Given the description of an element on the screen output the (x, y) to click on. 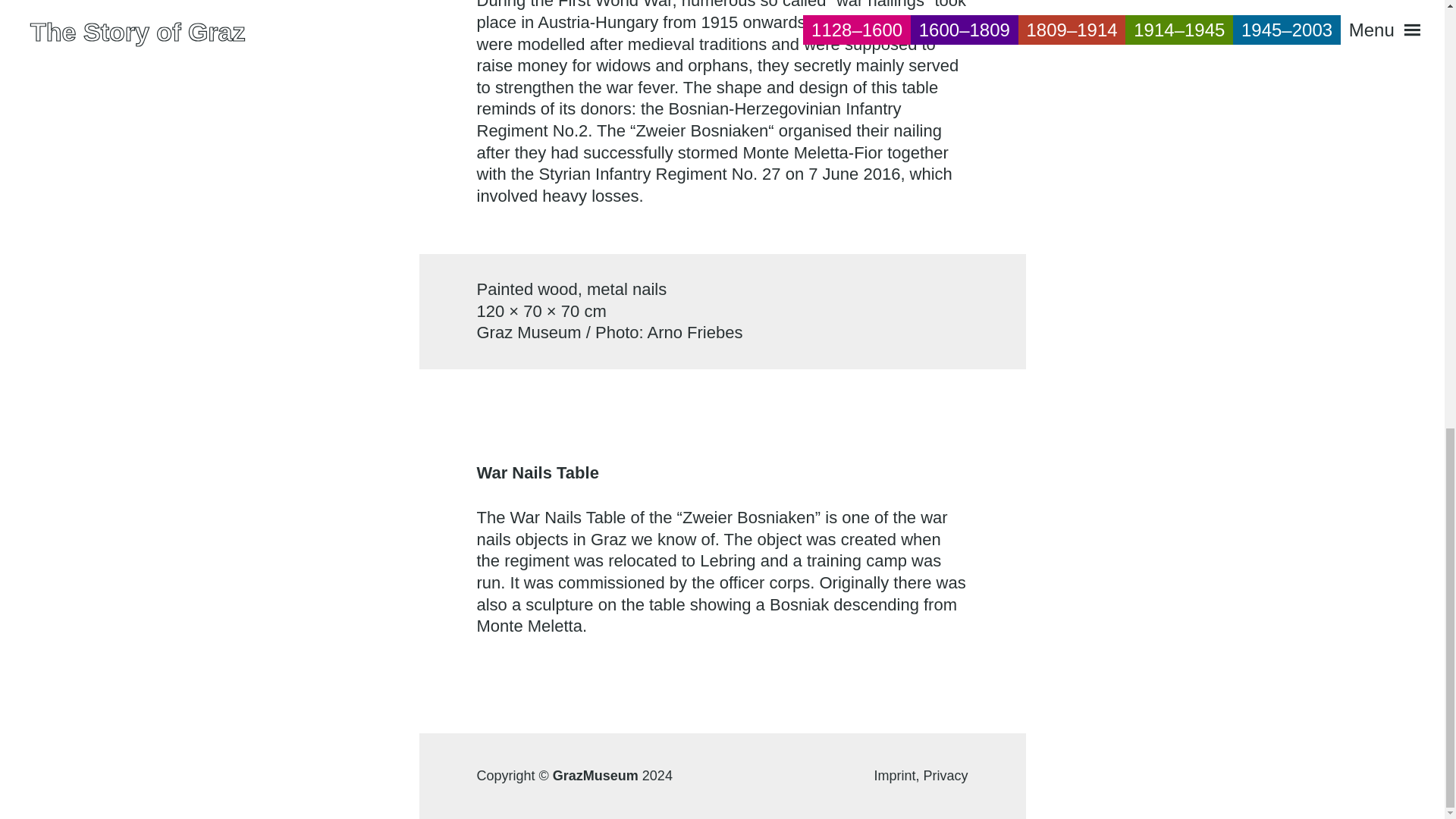
Created with Sketch. (1401, 28)
Imprint (898, 775)
Close Created with Sketch. (1372, 29)
Privacy (945, 775)
